Given the description of an element on the screen output the (x, y) to click on. 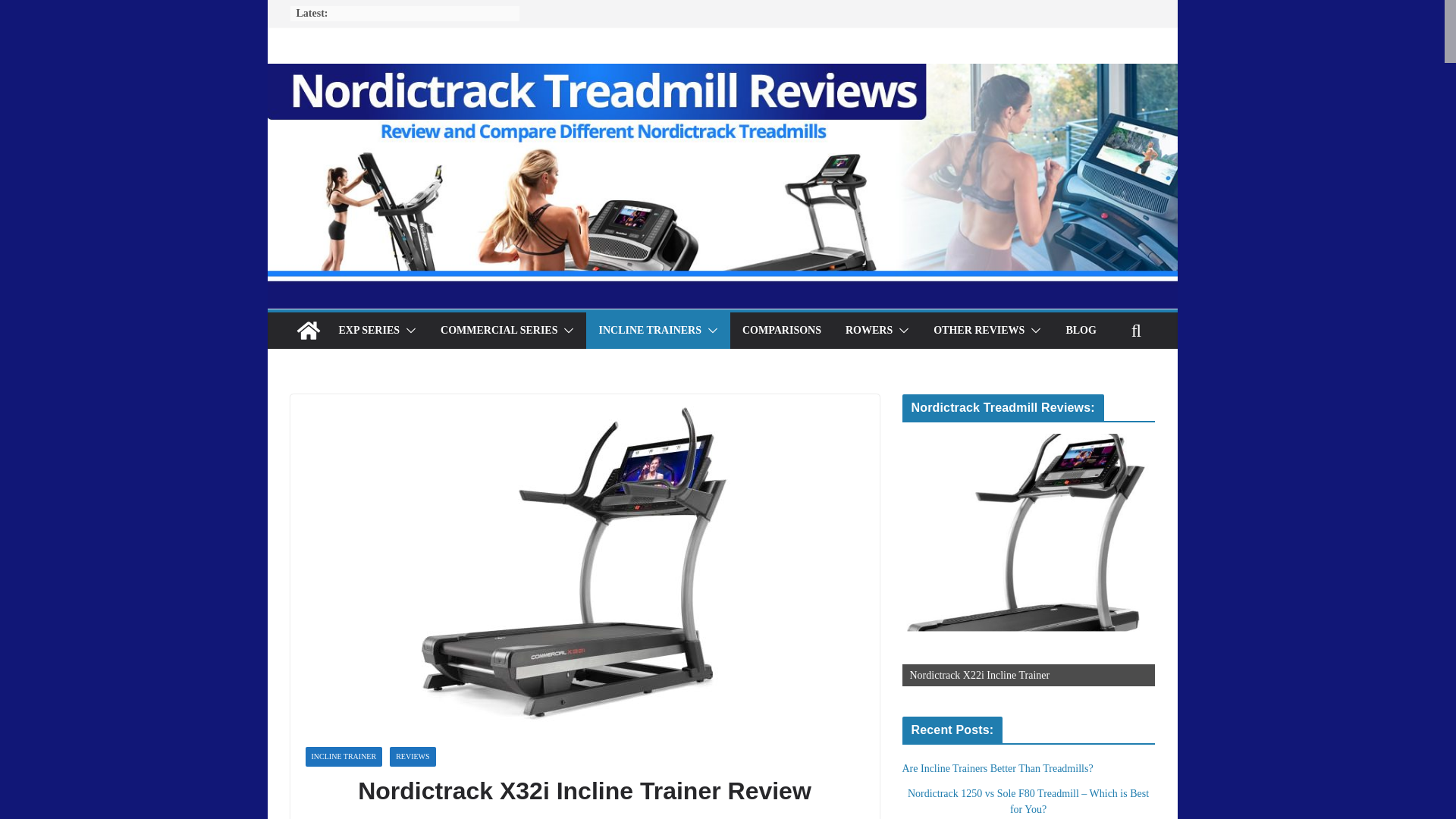
INCLINE TRAINERS (649, 330)
Nordictrack Treadmill Reviews Blog (307, 330)
9:40 am (453, 817)
nordictrack x32i (603, 817)
ROWERS (868, 330)
FitnessEquipmentGuide (360, 817)
reviews (655, 817)
FitnessEquipmentGuide (360, 817)
COMPARISONS (781, 330)
INCLINE TRAINER (342, 756)
OTHER REVIEWS (979, 330)
REVIEWS (412, 756)
nordictrack-x22i-incline-trainer-2020-small (1028, 560)
EXP SERIES (367, 330)
COMMERCIAL SERIES (499, 330)
